Given the description of an element on the screen output the (x, y) to click on. 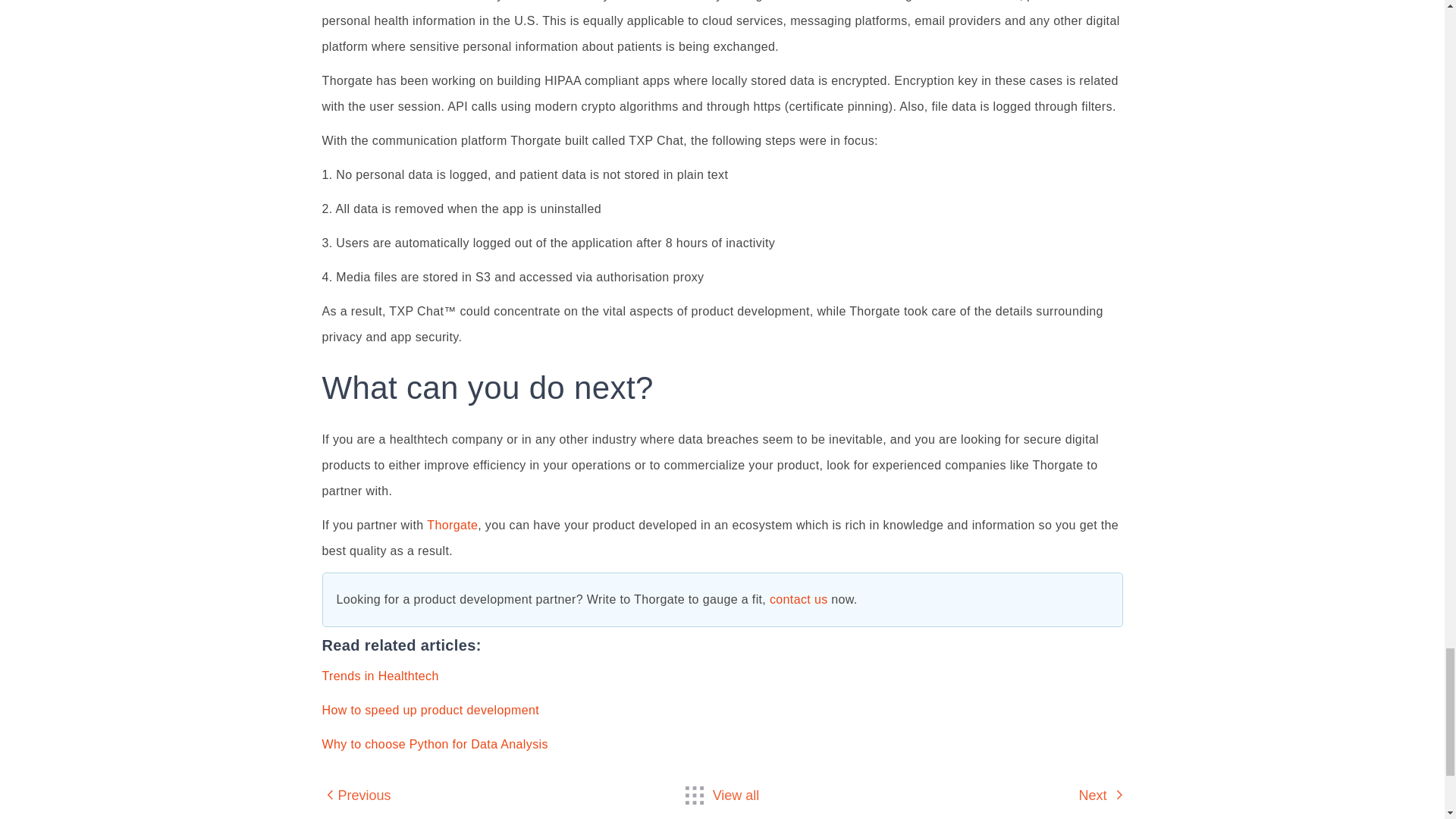
Previous (355, 795)
How to speed up product development (429, 709)
View all (722, 794)
Next (1100, 795)
Why to choose Python for Data Analysis (434, 744)
Thorgate (451, 524)
Trends in Healthtech (379, 675)
contact us (799, 599)
